Given the description of an element on the screen output the (x, y) to click on. 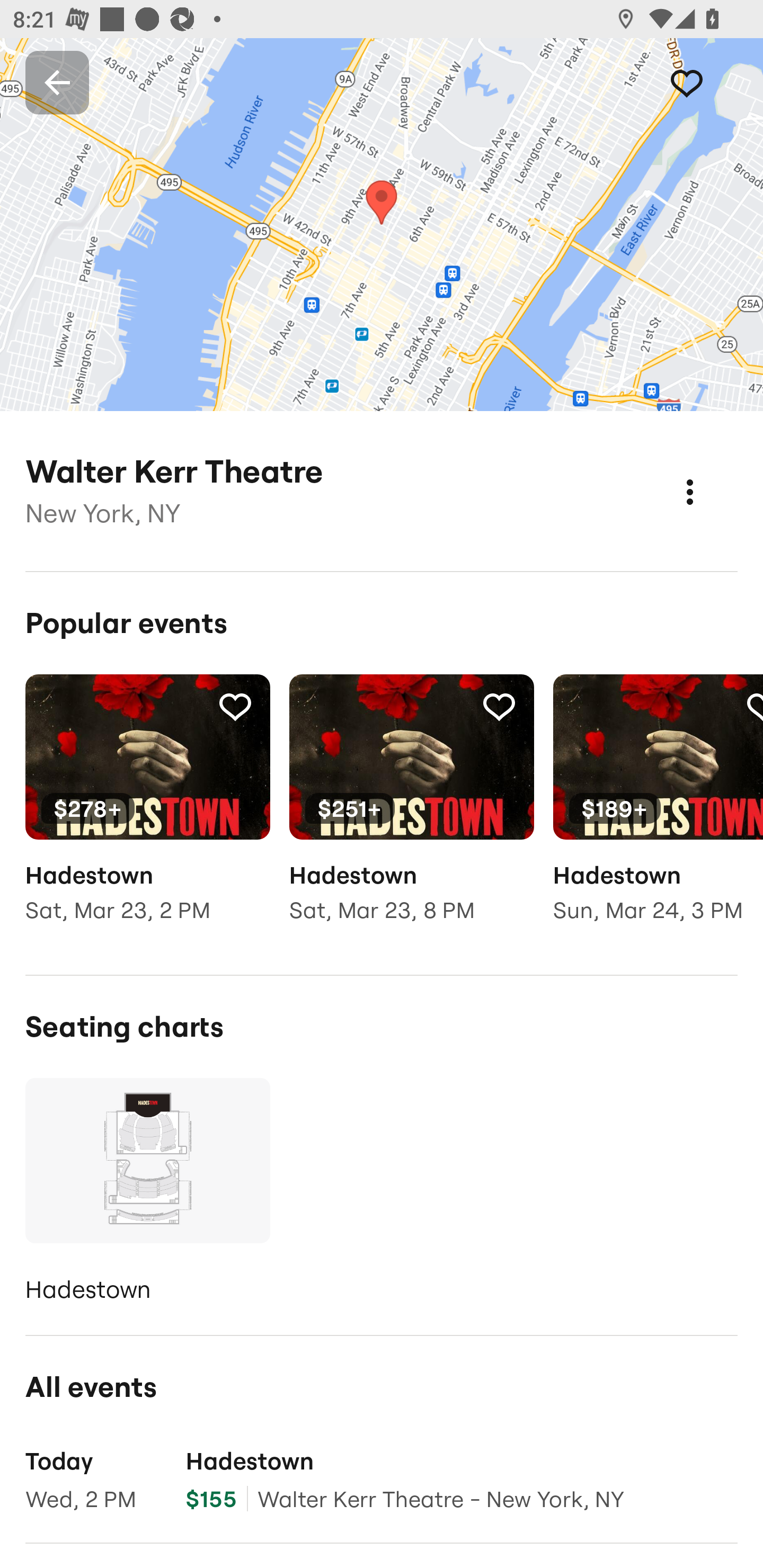
Back (57, 81)
Tracking (705, 81)
See more options (708, 472)
Tracking $278+ Hadestown Sat, Mar 23, 2 PM (147, 811)
Tracking $251+ Hadestown Sat, Mar 23, 8 PM (411, 811)
Tracking $189+ Hadestown Sun, Mar 24, 3 PM (658, 811)
Tracking (234, 705)
Tracking (498, 705)
Hadestown (147, 1193)
